Given the description of an element on the screen output the (x, y) to click on. 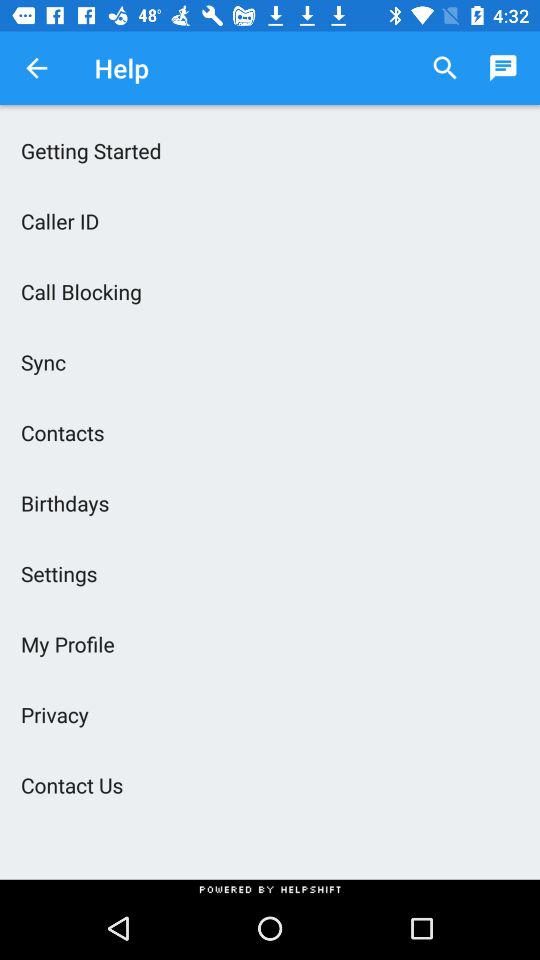
launch icon below getting started item (270, 220)
